Given the description of an element on the screen output the (x, y) to click on. 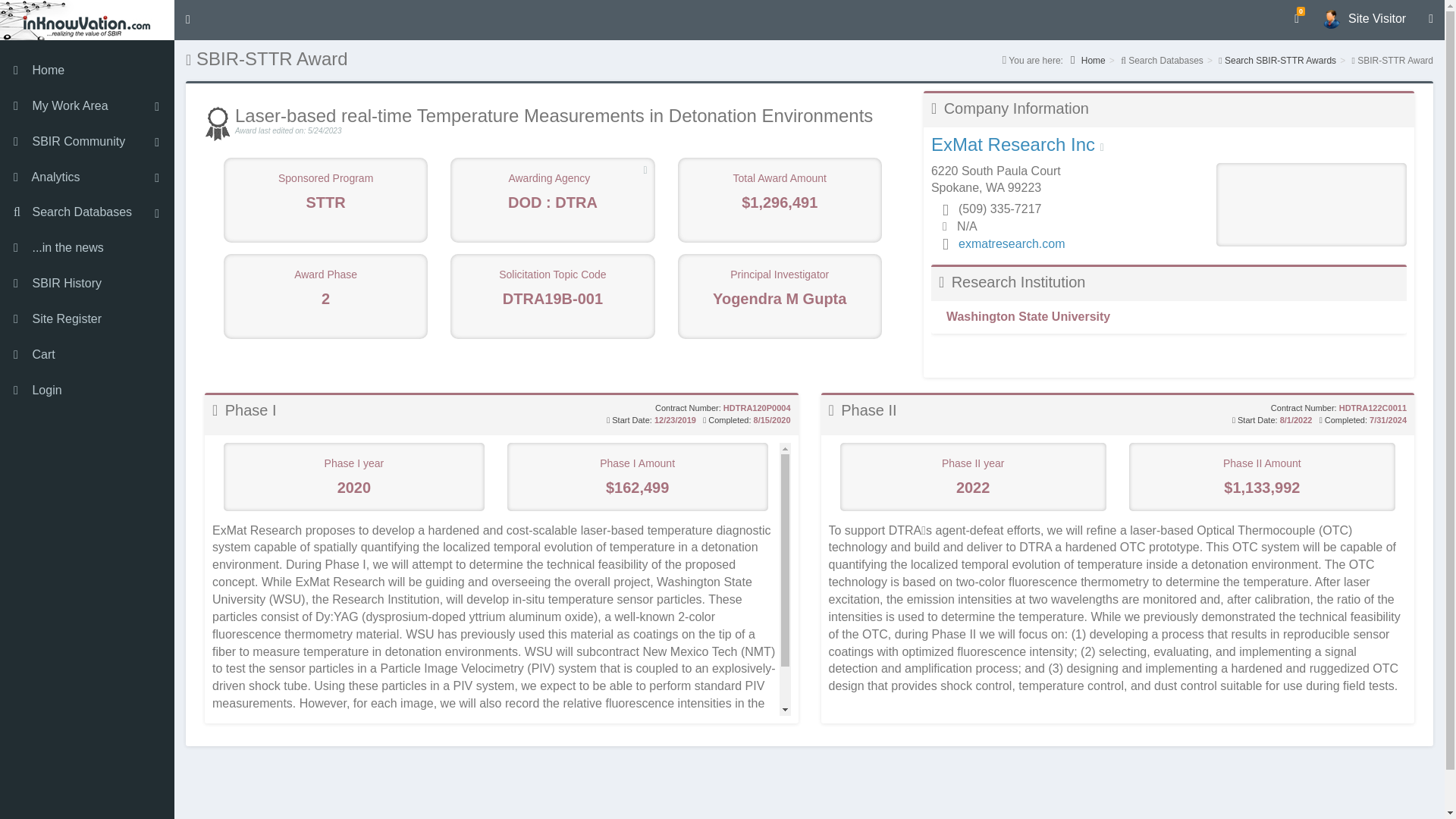
Home (87, 70)
Cart (87, 355)
Home (87, 20)
Analytics (87, 177)
Home (1087, 60)
Search Databases (87, 212)
...in the news (87, 248)
Site Visitor (1363, 18)
SBIR History (87, 284)
